Given the description of an element on the screen output the (x, y) to click on. 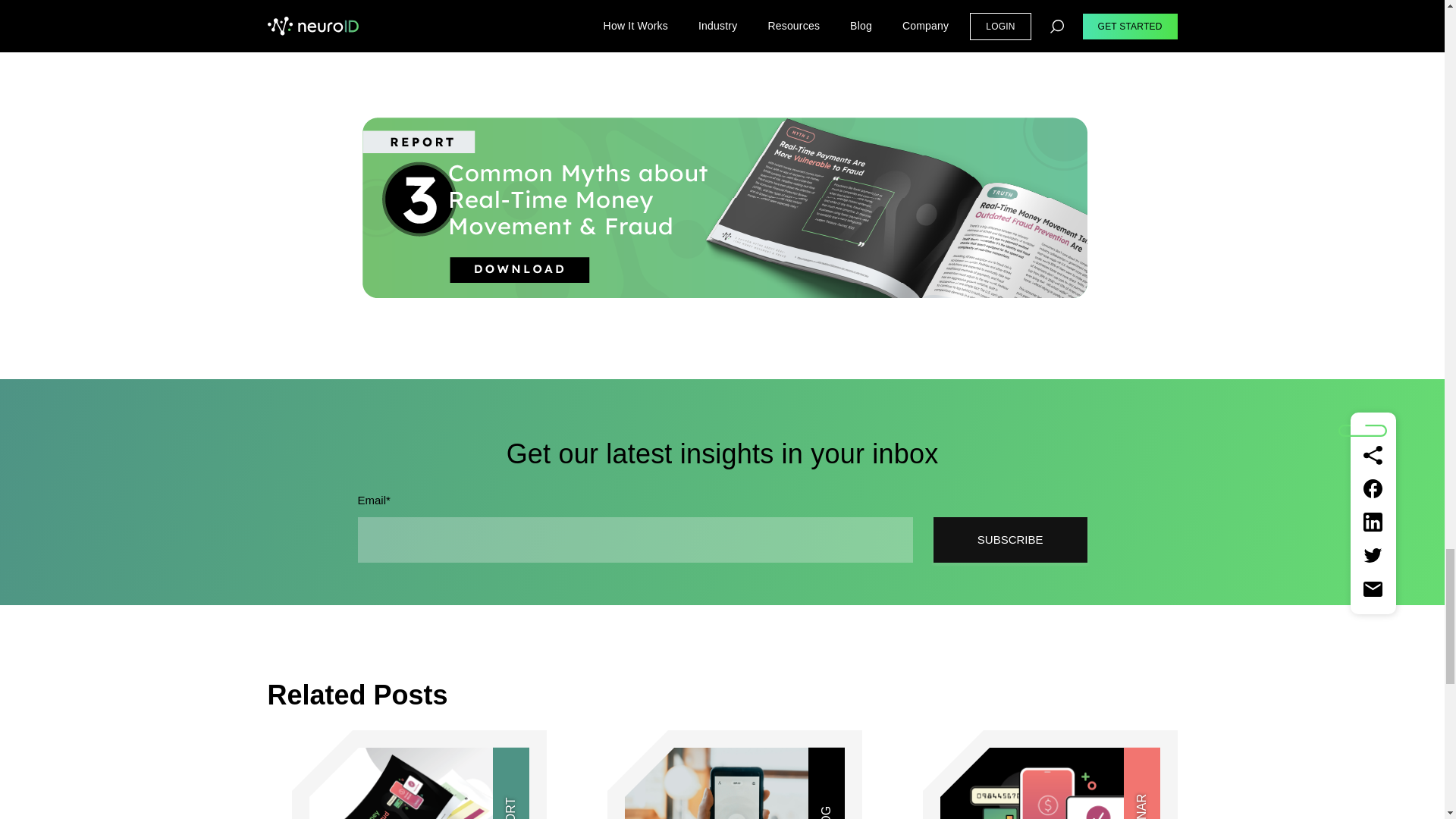
Subscribe (1010, 539)
